Given the description of an element on the screen output the (x, y) to click on. 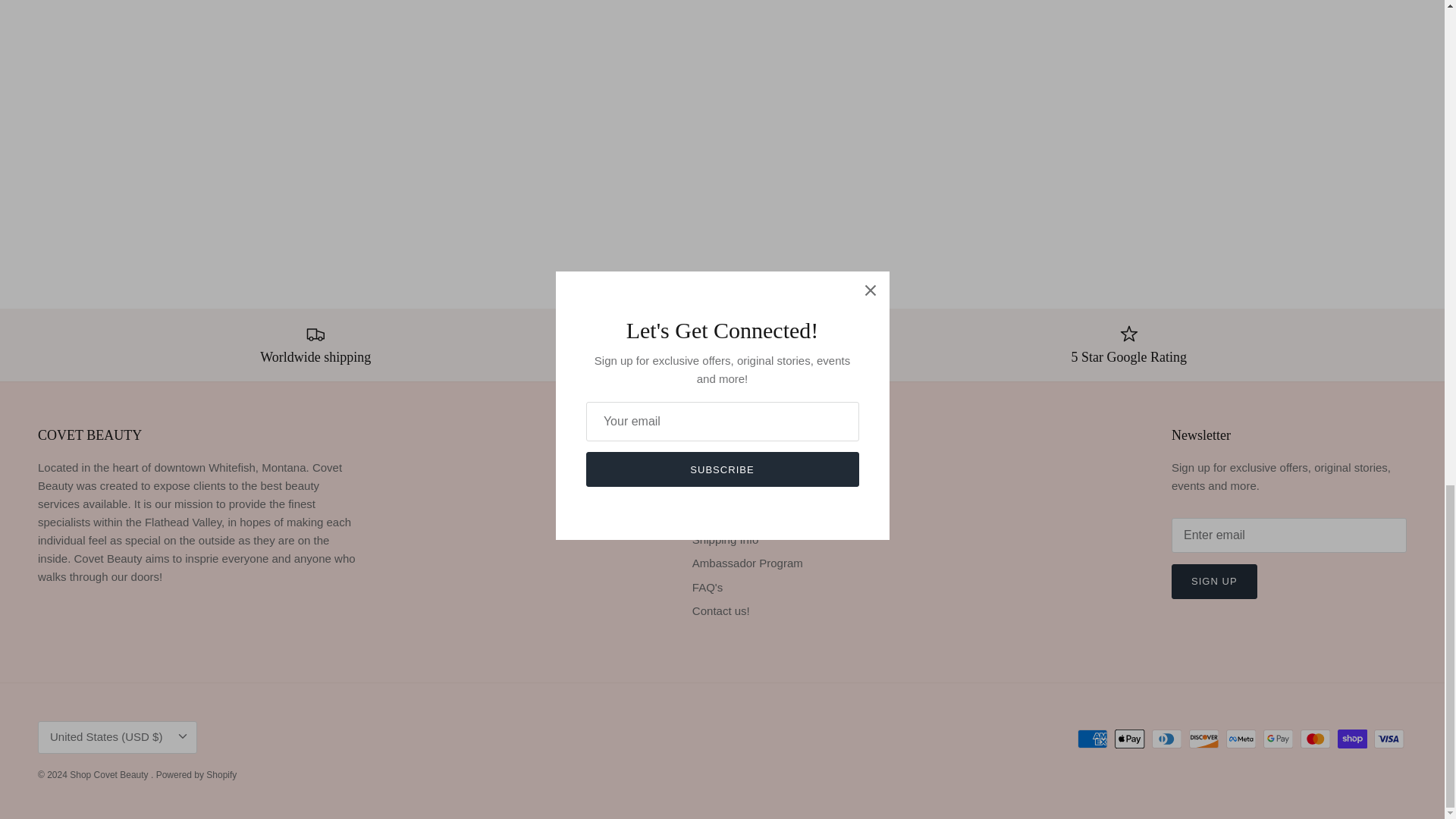
American Express (1092, 738)
Meta Pay (1240, 738)
Google Pay (1277, 738)
Mastercard (1315, 738)
Shop Pay (1352, 738)
Apple Pay (1129, 738)
Diners Club (1166, 738)
Discover (1203, 738)
